Given the description of an element on the screen output the (x, y) to click on. 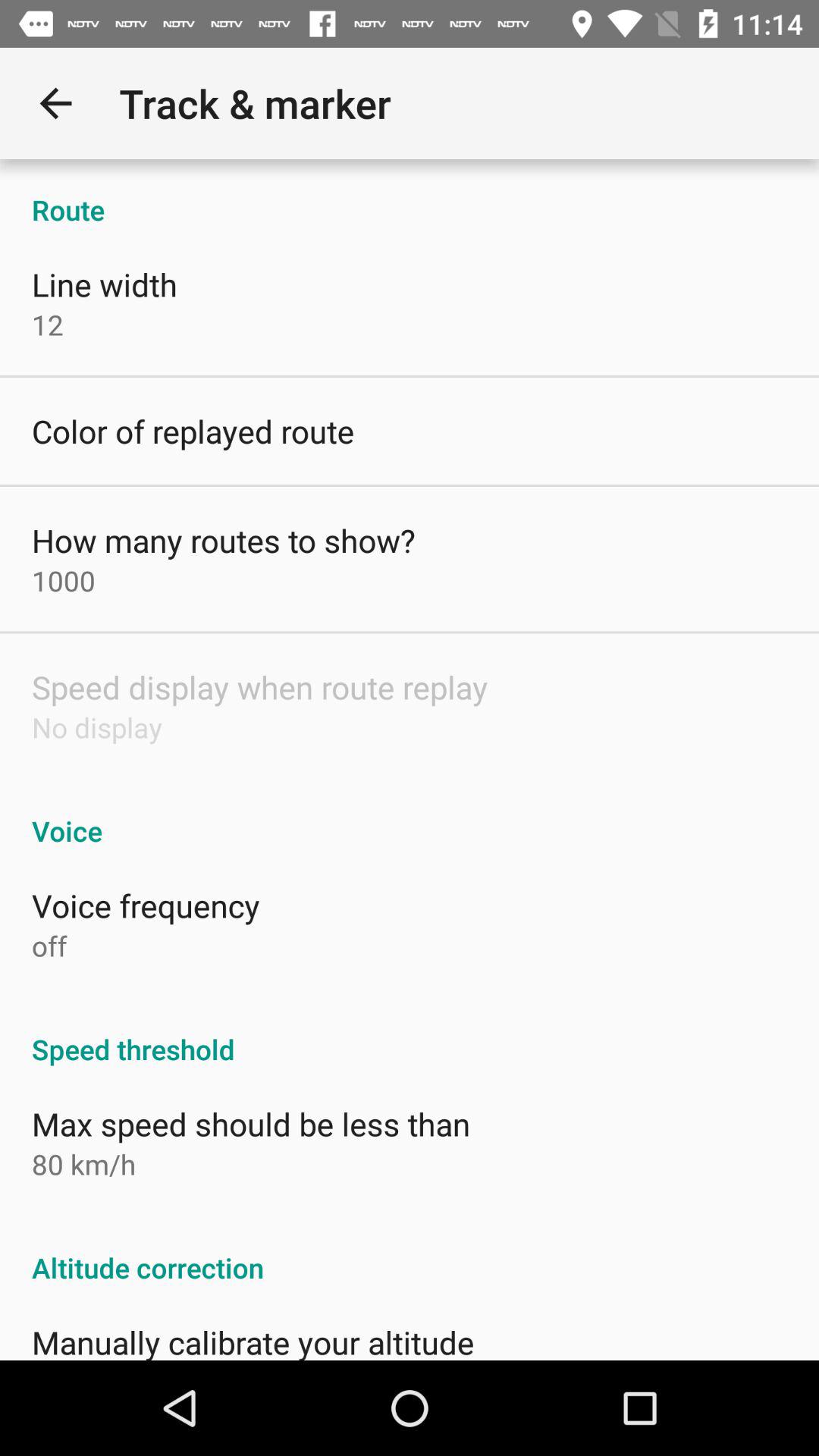
press the icon below voice frequency (49, 945)
